Given the description of an element on the screen output the (x, y) to click on. 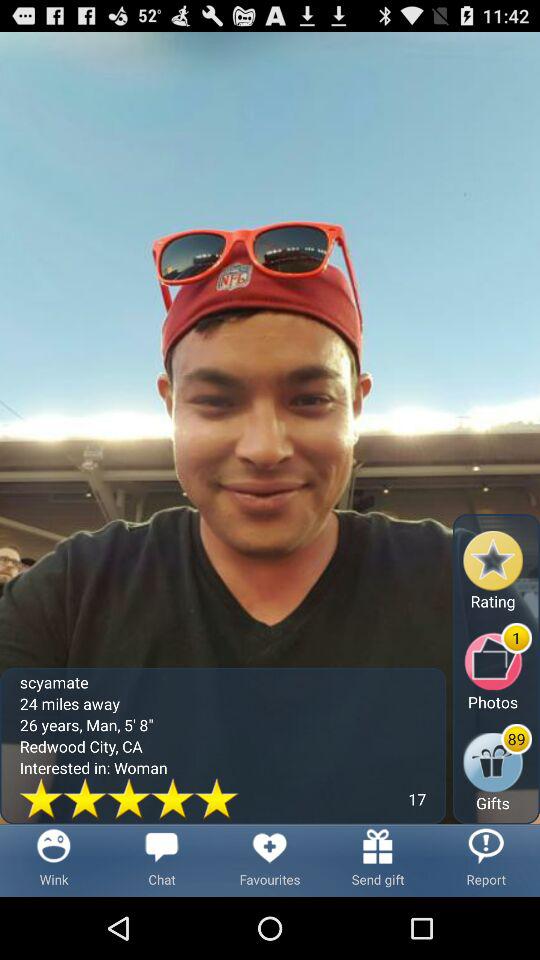
turn off the button to the left of chat item (54, 860)
